Given the description of an element on the screen output the (x, y) to click on. 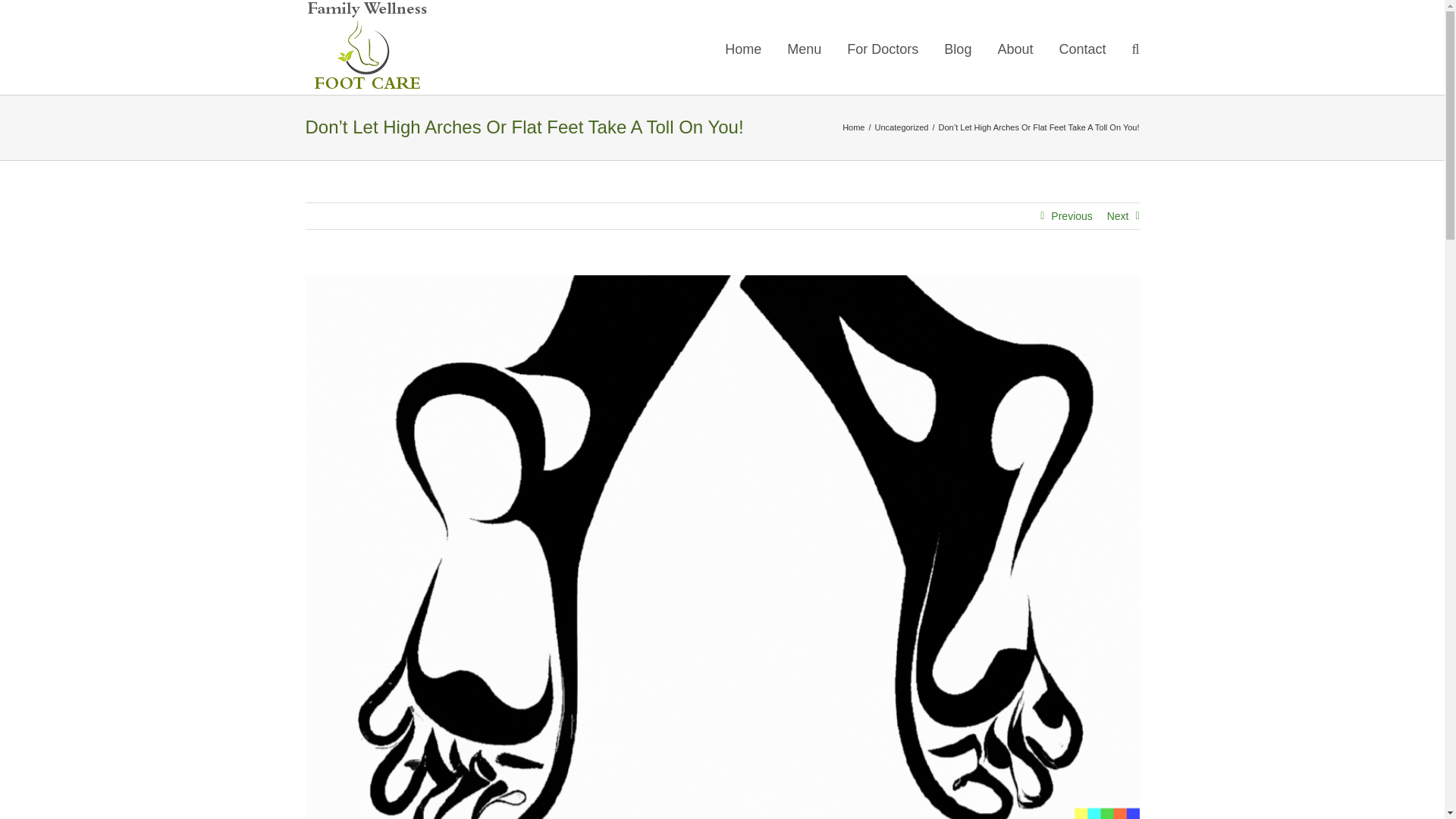
Home (853, 126)
Previous (1071, 216)
Uncategorized (901, 126)
